Given the description of an element on the screen output the (x, y) to click on. 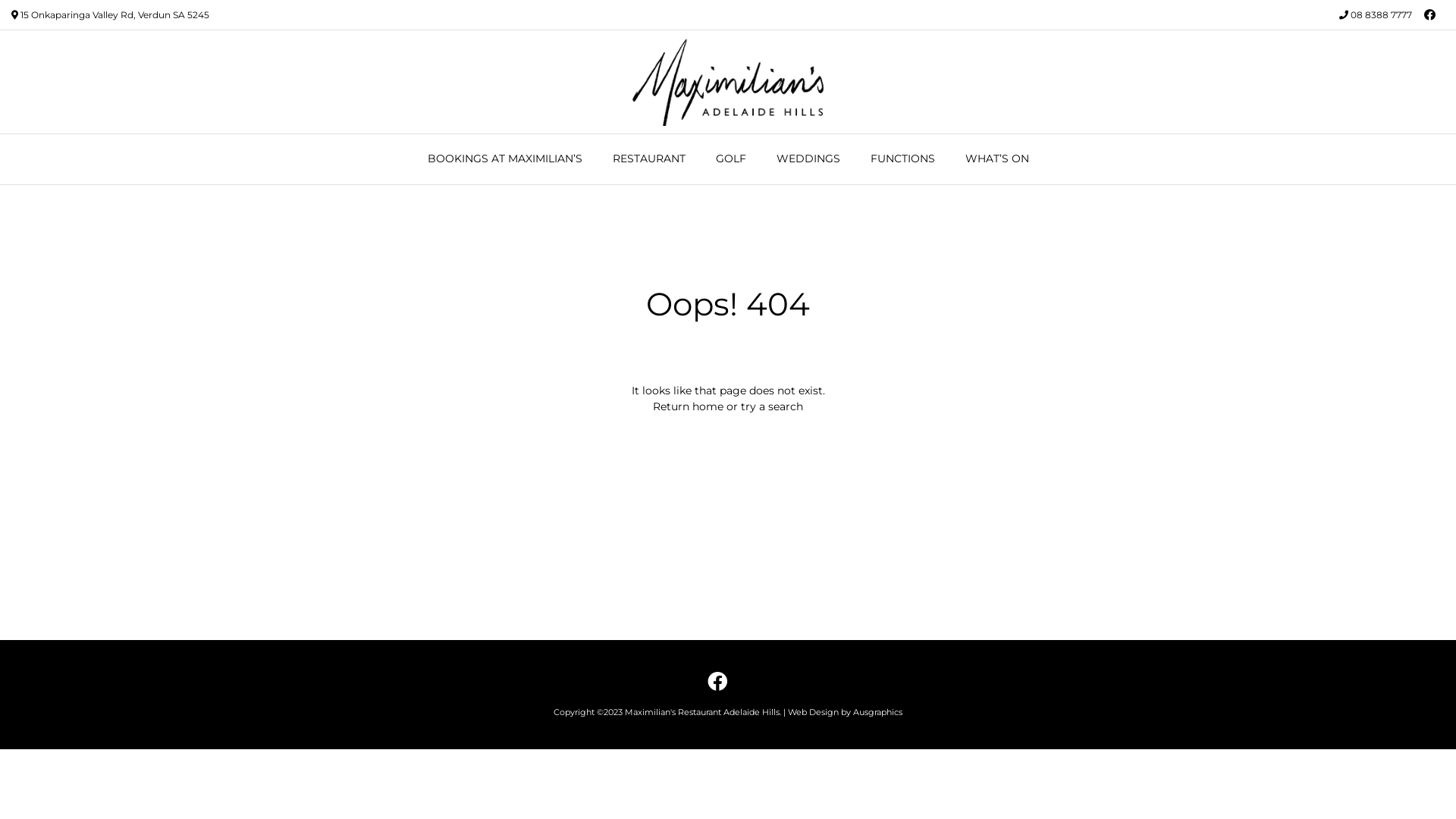
Find Us on Facebook Element type: hover (717, 680)
08 8388 7777 Element type: text (1381, 14)
Maximilian's Restaurant Adelaide Hills Element type: text (701, 711)
WEDDINGS Element type: text (808, 159)
RESTAURANT Element type: text (648, 159)
GOLF Element type: text (730, 159)
FUNCTIONS Element type: text (902, 159)
Maximilian's Restaurant Adelaide Hills Element type: hover (727, 81)
Web Design Element type: text (812, 711)
Ausgraphics Element type: text (877, 711)
Skip to content Element type: text (0, 0)
Find Us on Facebook Element type: hover (1429, 14)
